Given the description of an element on the screen output the (x, y) to click on. 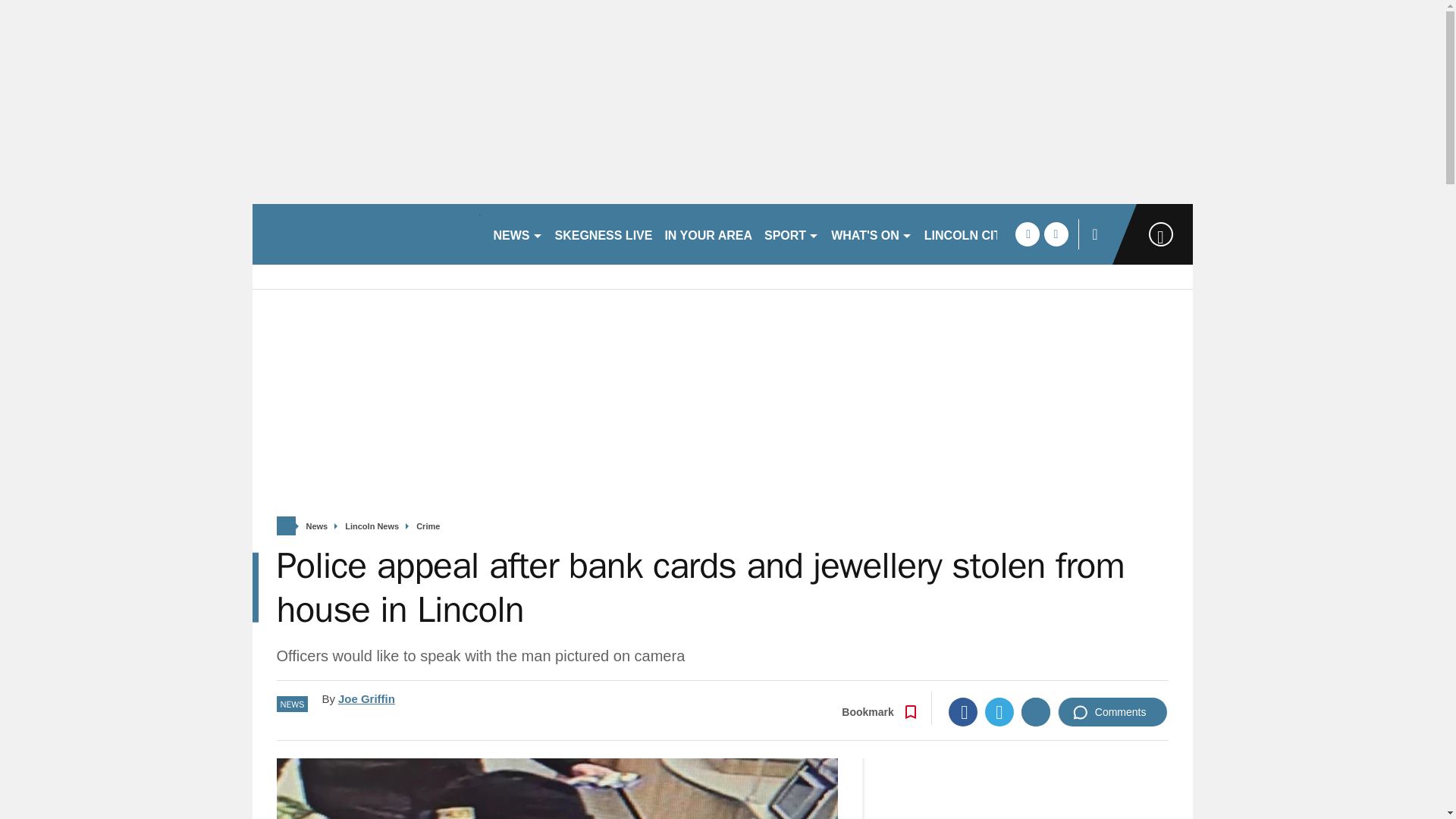
SPORT (791, 233)
IN YOUR AREA (708, 233)
Twitter (999, 711)
LINCOLN CITY FC (975, 233)
WHAT'S ON (871, 233)
facebook (1026, 233)
SKEGNESS LIVE (603, 233)
twitter (1055, 233)
Comments (1112, 711)
NEWS (517, 233)
